Given the description of an element on the screen output the (x, y) to click on. 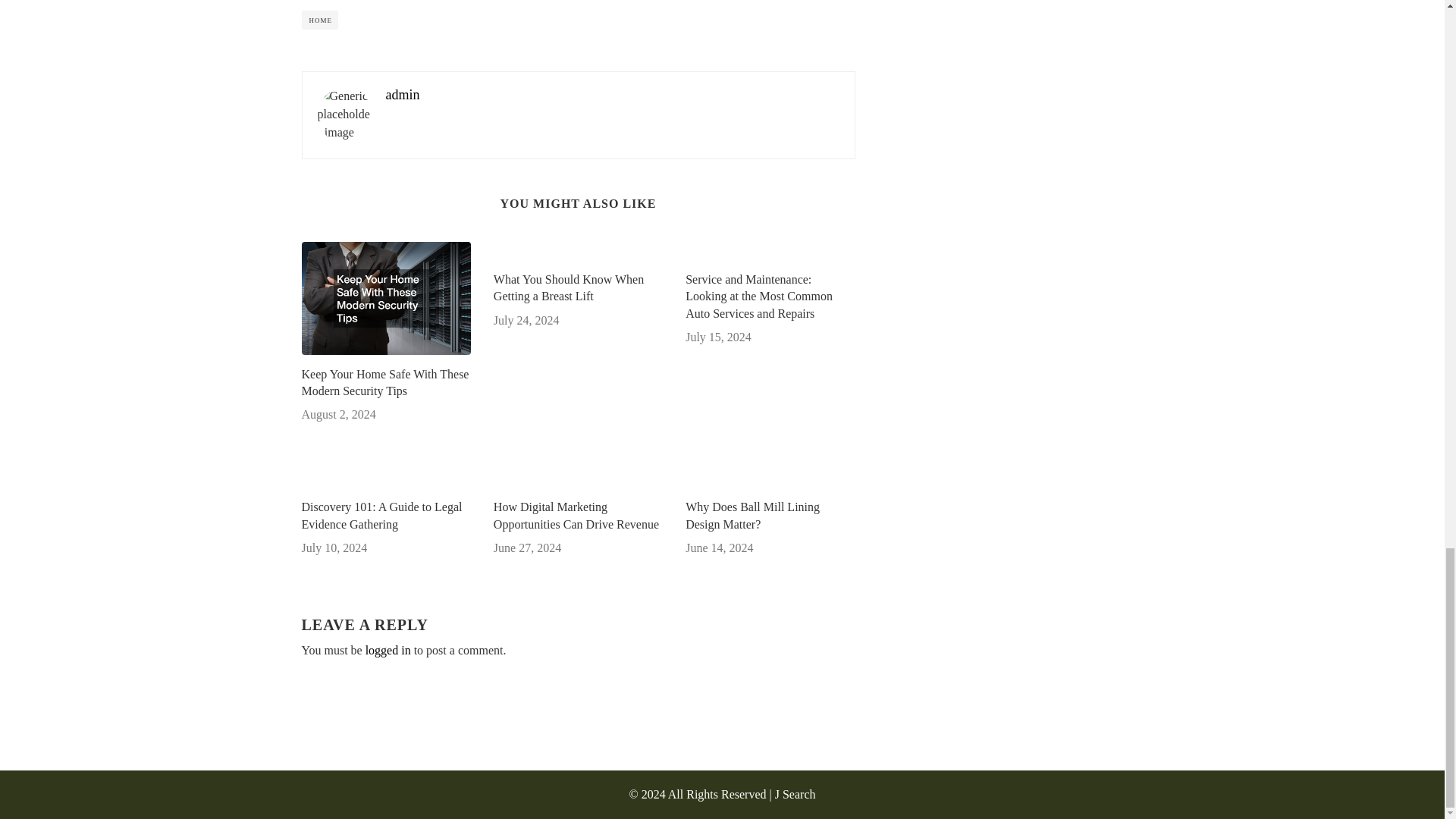
Discovery 101: A Guide to Legal Evidence Gathering (385, 515)
admin (402, 94)
Keep Your Home Safe With These Modern Security Tips (385, 383)
What You Should Know When Getting a Breast Lift (577, 288)
Why Does Ball Mill Lining Design Matter? (769, 515)
HOME (320, 20)
logged in (387, 649)
How Digital Marketing Opportunities Can Drive Revenue (577, 515)
